Given the description of an element on the screen output the (x, y) to click on. 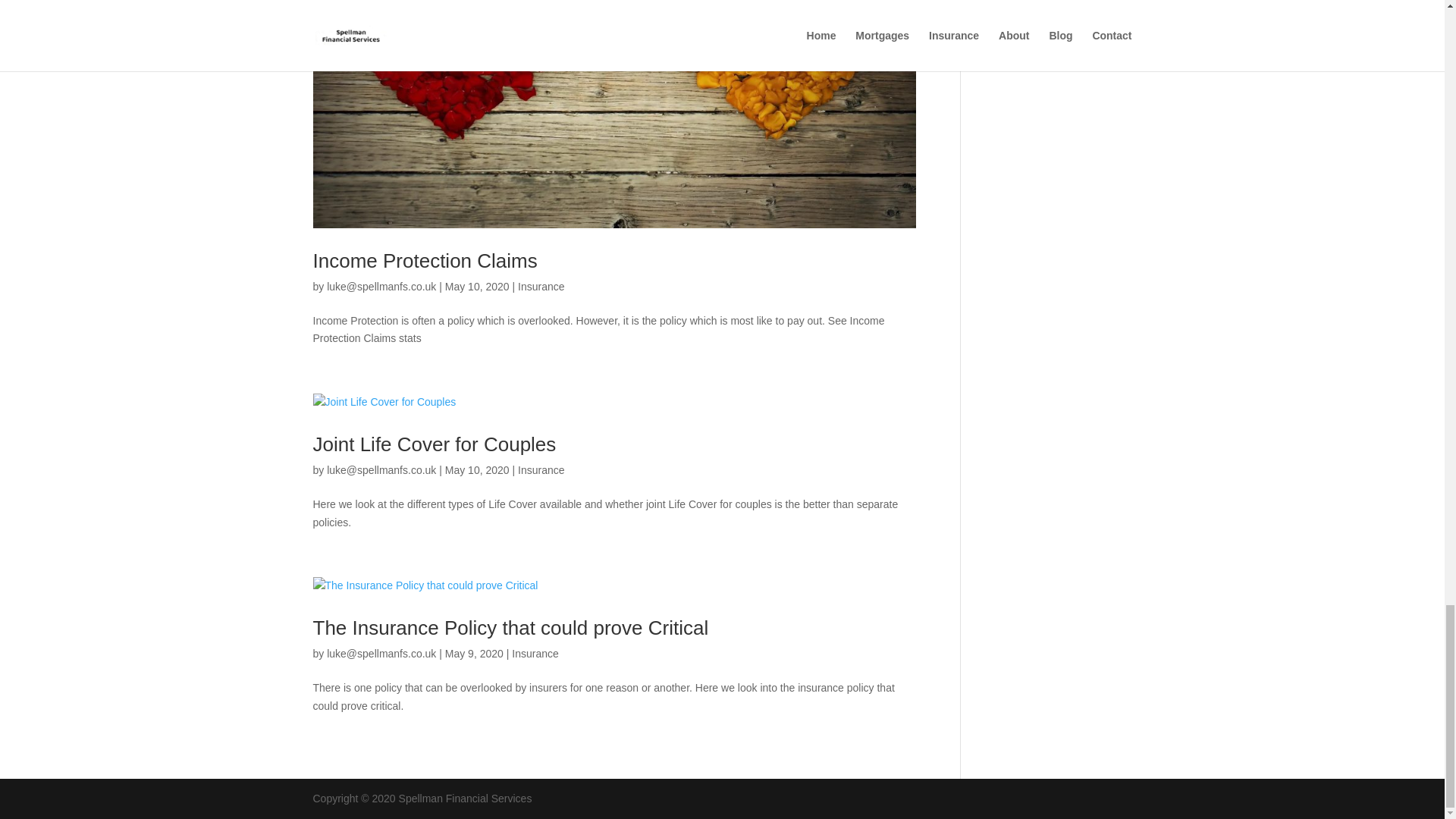
Insurance (541, 469)
The Insurance Policy that could prove Critical (510, 627)
Income Protection Claims (425, 260)
Joint Life Cover for Couples (434, 444)
Insurance (541, 286)
